Given the description of an element on the screen output the (x, y) to click on. 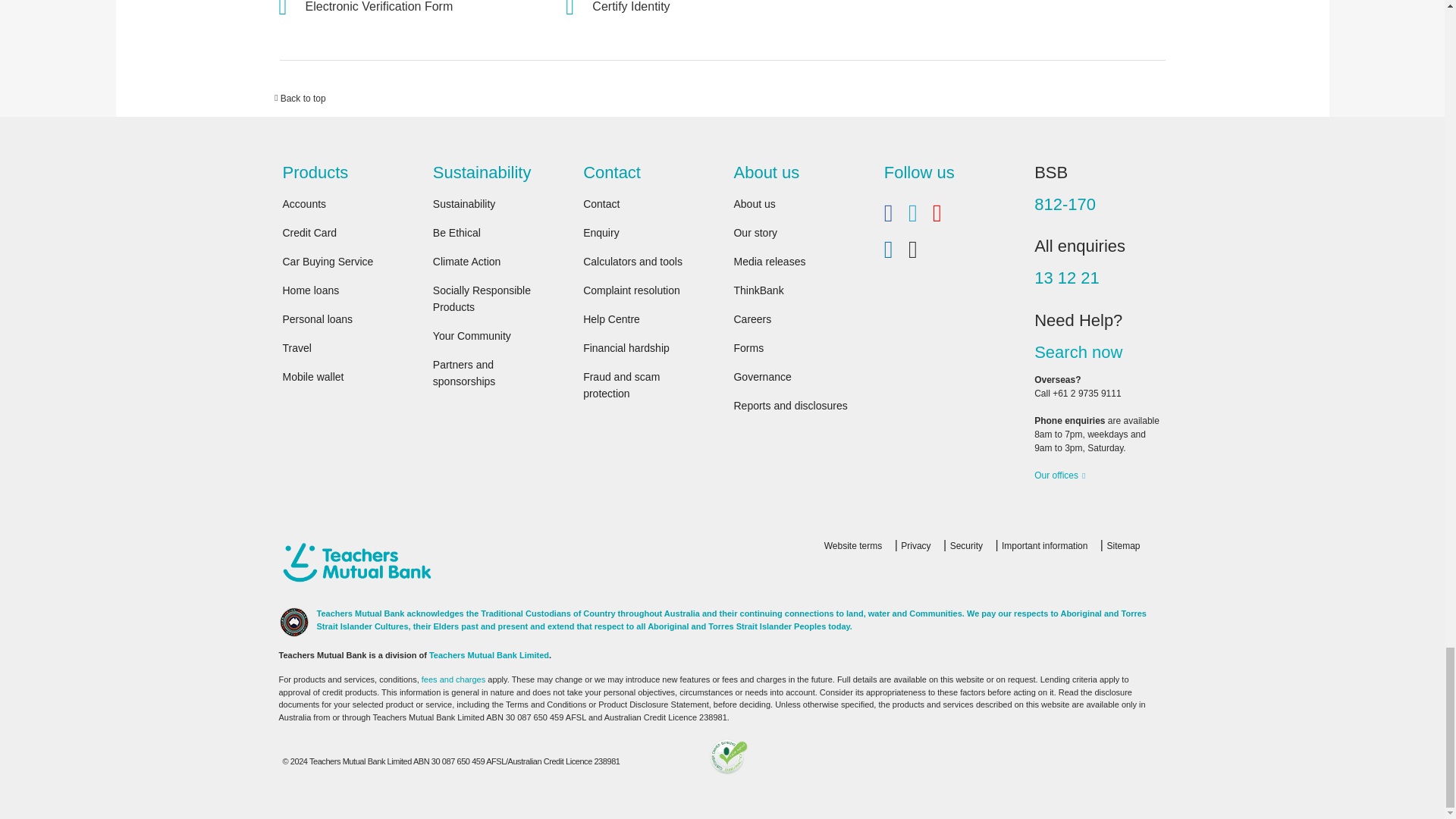
Personal loans (317, 318)
Climate Action (466, 261)
Contact (601, 203)
Accounts (304, 203)
Complaint resolution (631, 290)
Your Community (471, 336)
Partners and sponsorships (464, 372)
Car Buying Service (327, 261)
Enquiry (600, 232)
Mobile wallet (312, 377)
